Given the description of an element on the screen output the (x, y) to click on. 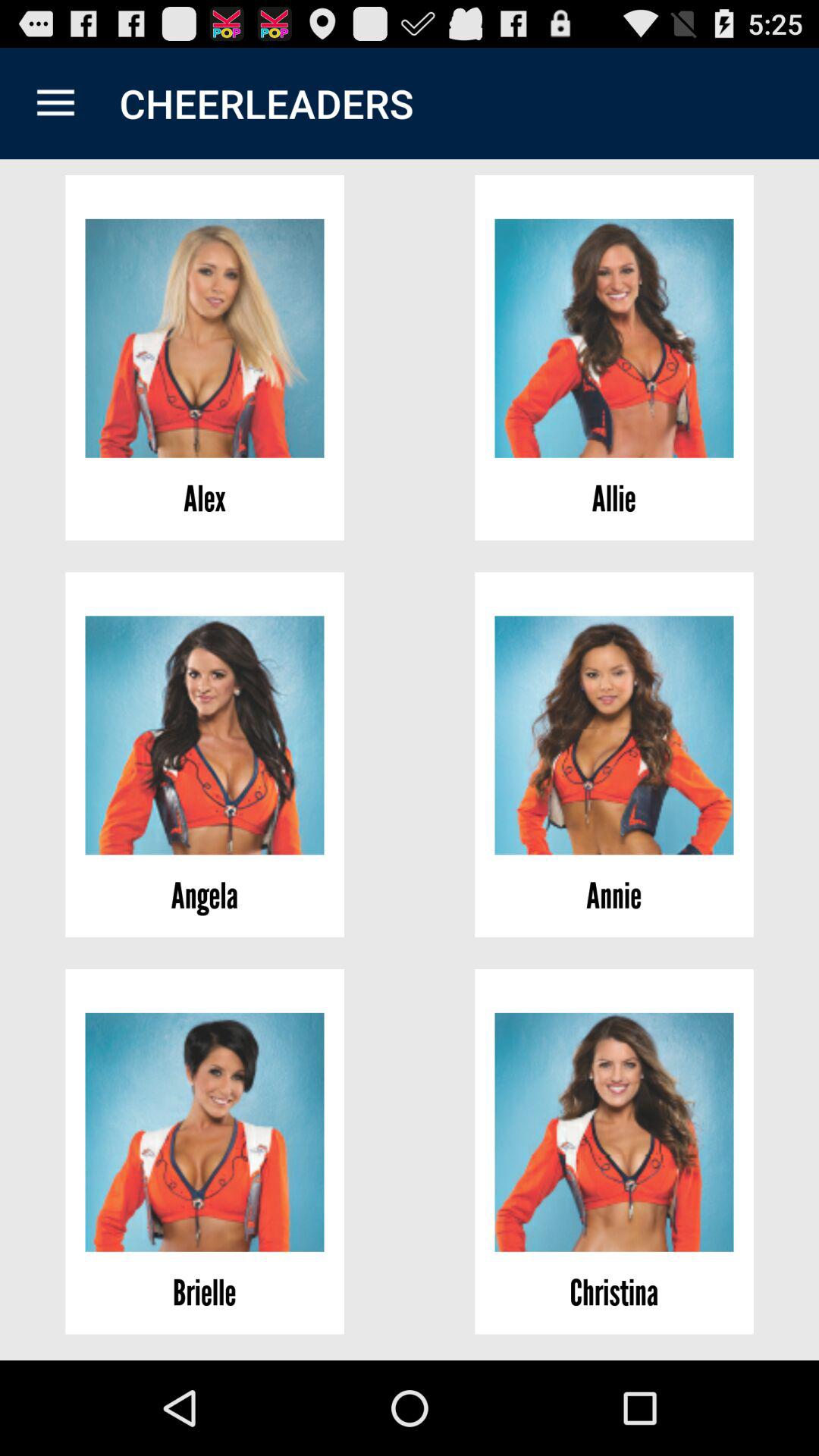
turn off the item next to the cheerleaders item (55, 103)
